Given the description of an element on the screen output the (x, y) to click on. 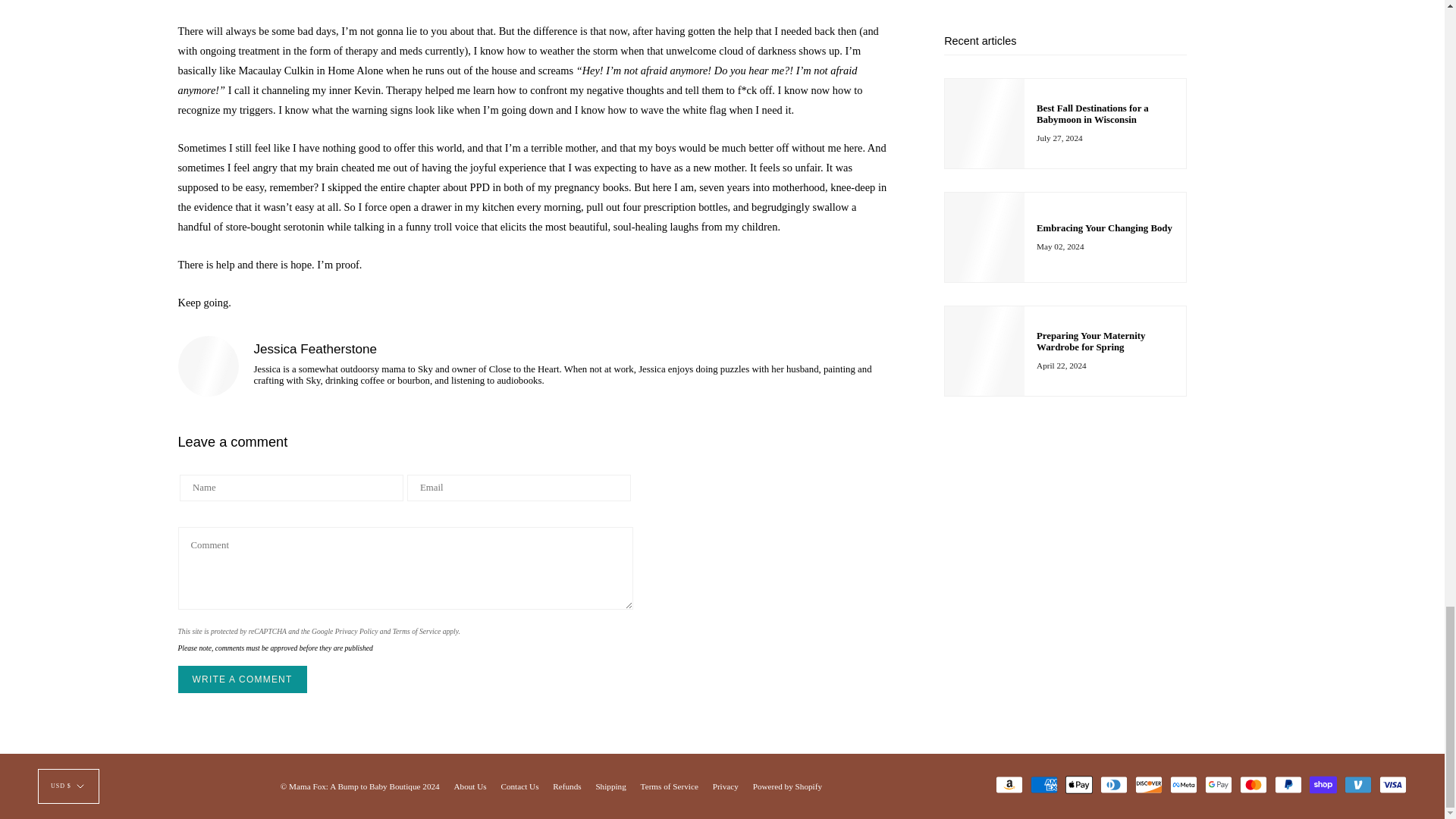
American Express (1044, 784)
Meta Pay (1183, 784)
Amazon (1009, 784)
PayPal (1288, 784)
Discover (1148, 784)
Shop Pay (1322, 784)
Mastercard (1253, 784)
Apple Pay (1079, 784)
Diners Club (1113, 784)
Write a comment (241, 678)
Google Pay (1218, 784)
